Given the description of an element on the screen output the (x, y) to click on. 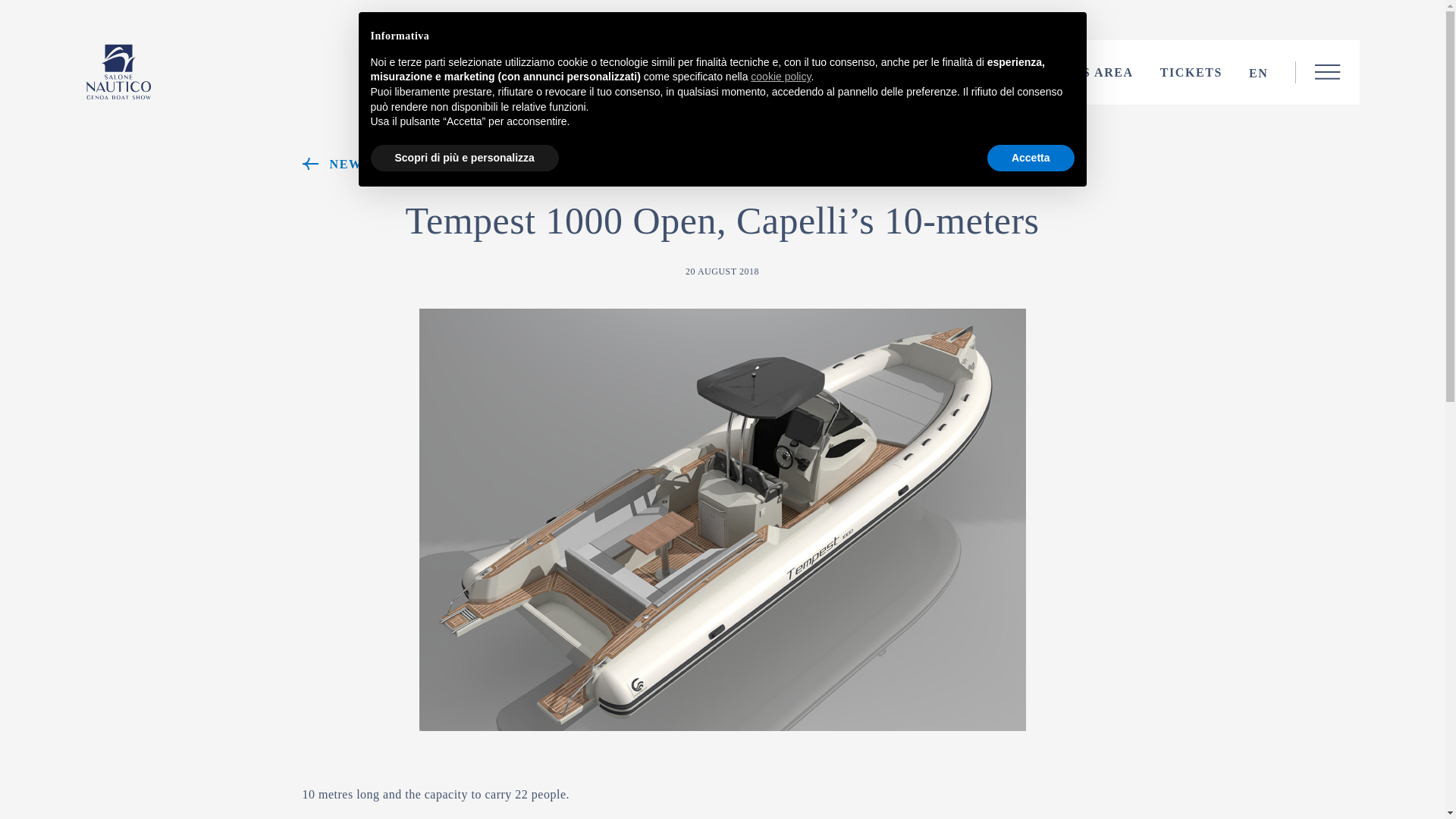
TICKETS (1191, 72)
EXHIBITORS AREA (1067, 72)
EN (1258, 73)
